Given the description of an element on the screen output the (x, y) to click on. 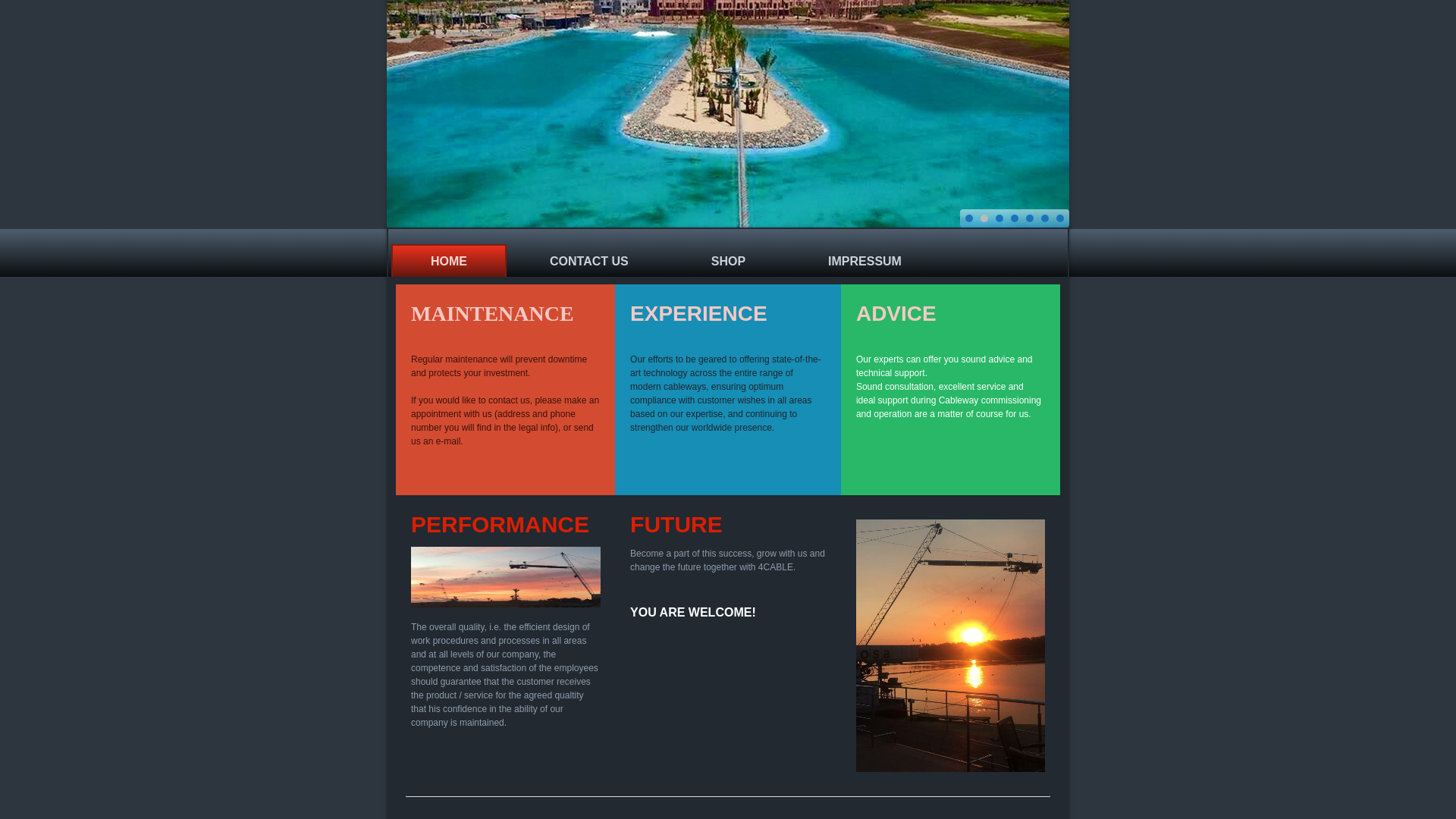
HOME (448, 260)
SHOP (727, 260)
CONTACT US (589, 260)
IMPRESSUM (864, 260)
